Given the description of an element on the screen output the (x, y) to click on. 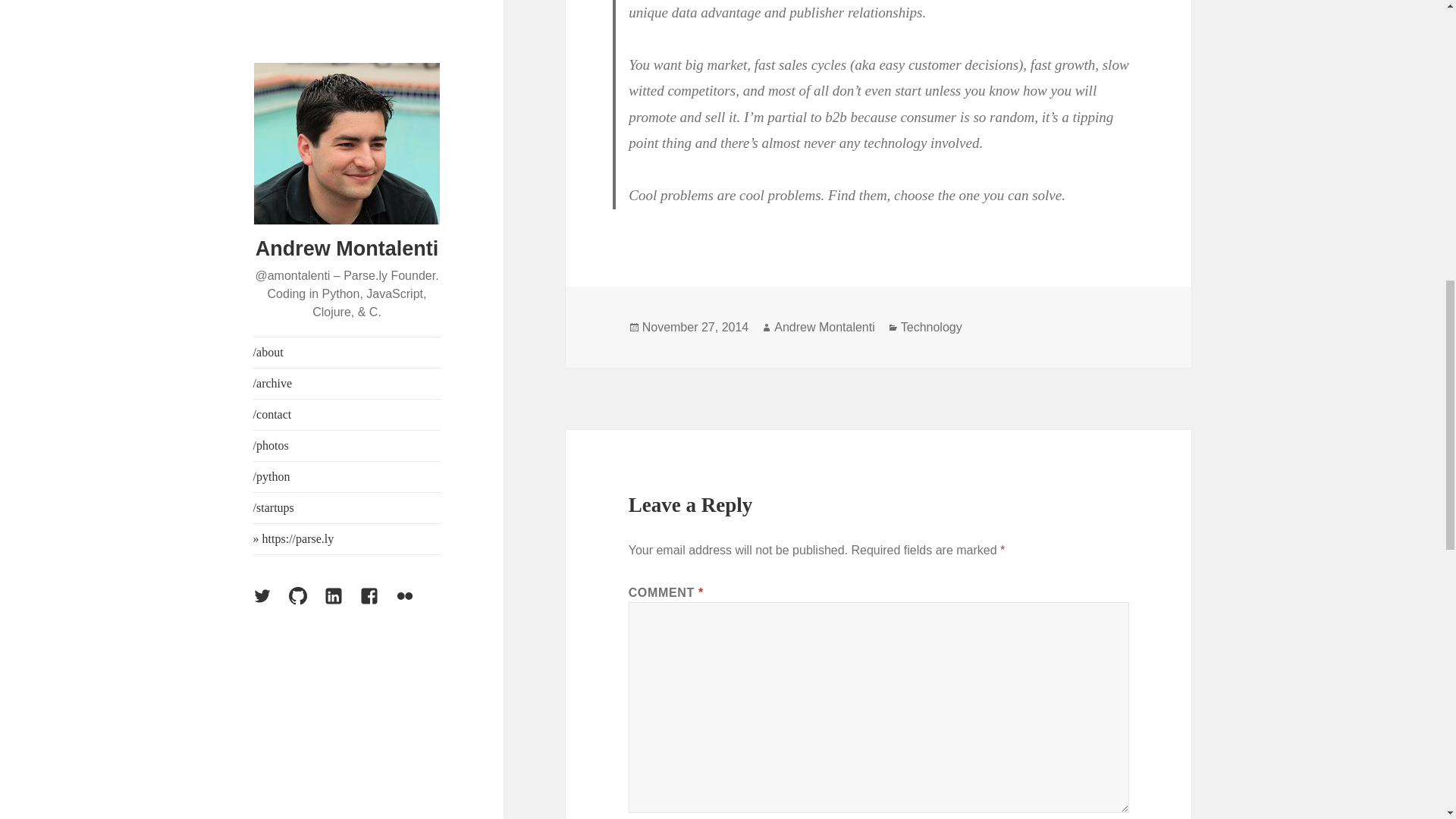
November 27, 2014 (695, 327)
Technology (931, 327)
Andrew Montalenti (824, 327)
